Given the description of an element on the screen output the (x, y) to click on. 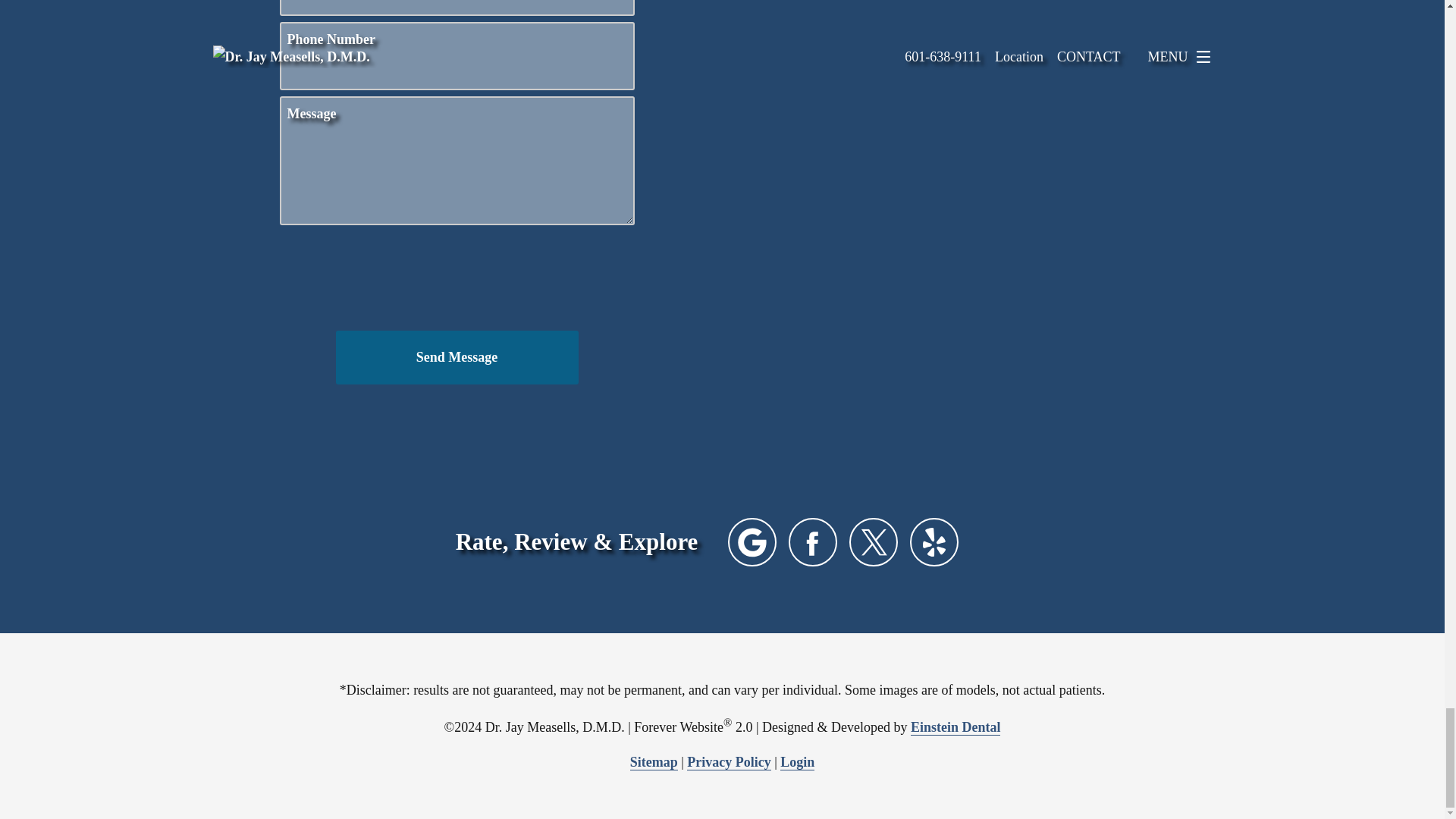
Login (796, 762)
Sitemap (654, 762)
Einstein Dental (956, 727)
Yelp (934, 541)
Send Message (456, 357)
Facebook (813, 541)
Google (752, 541)
Privacy Policy (728, 762)
Twitter (873, 541)
